Given the description of an element on the screen output the (x, y) to click on. 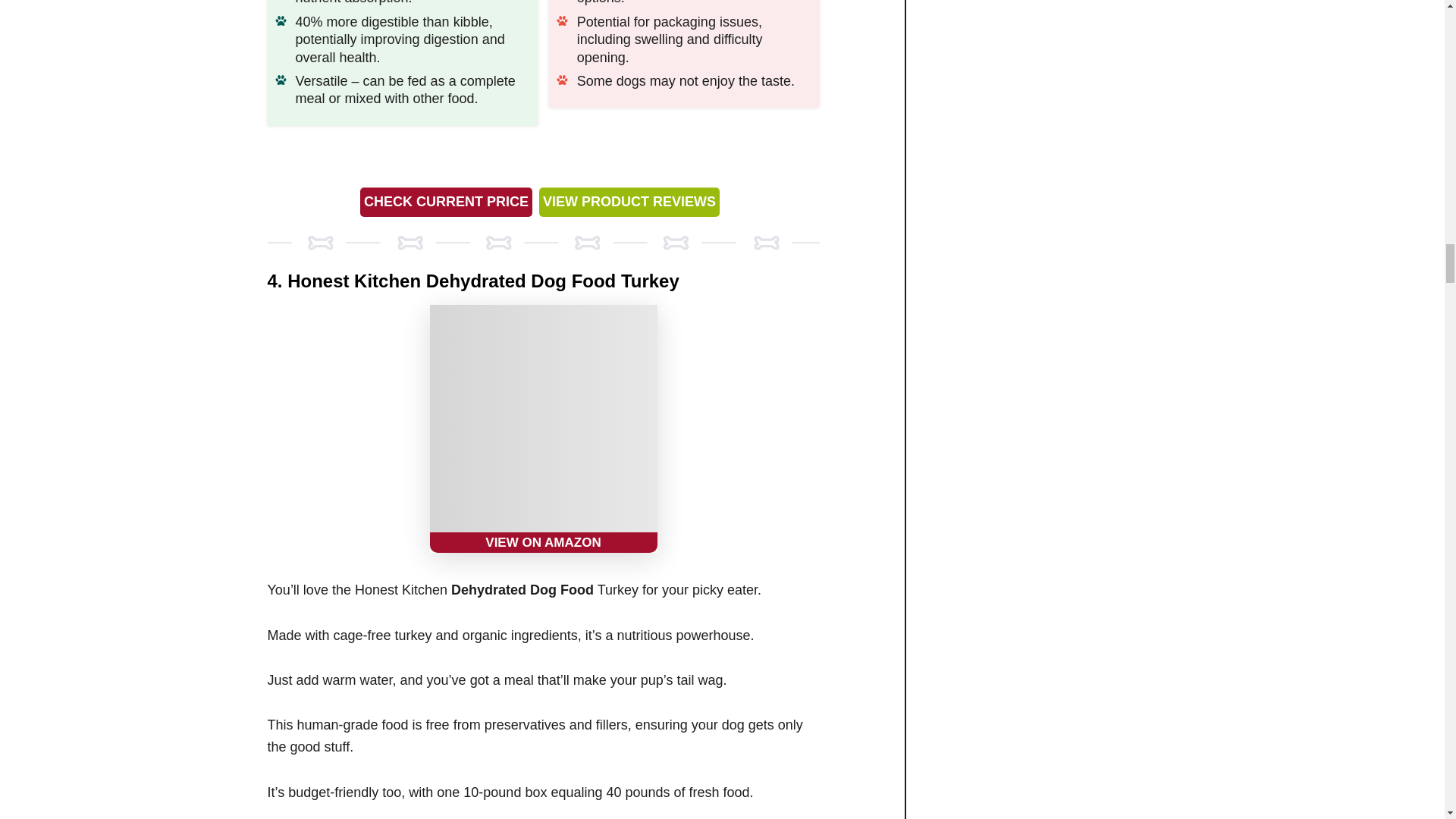
The Honest Kitchen Human Grade (542, 428)
